Given the description of an element on the screen output the (x, y) to click on. 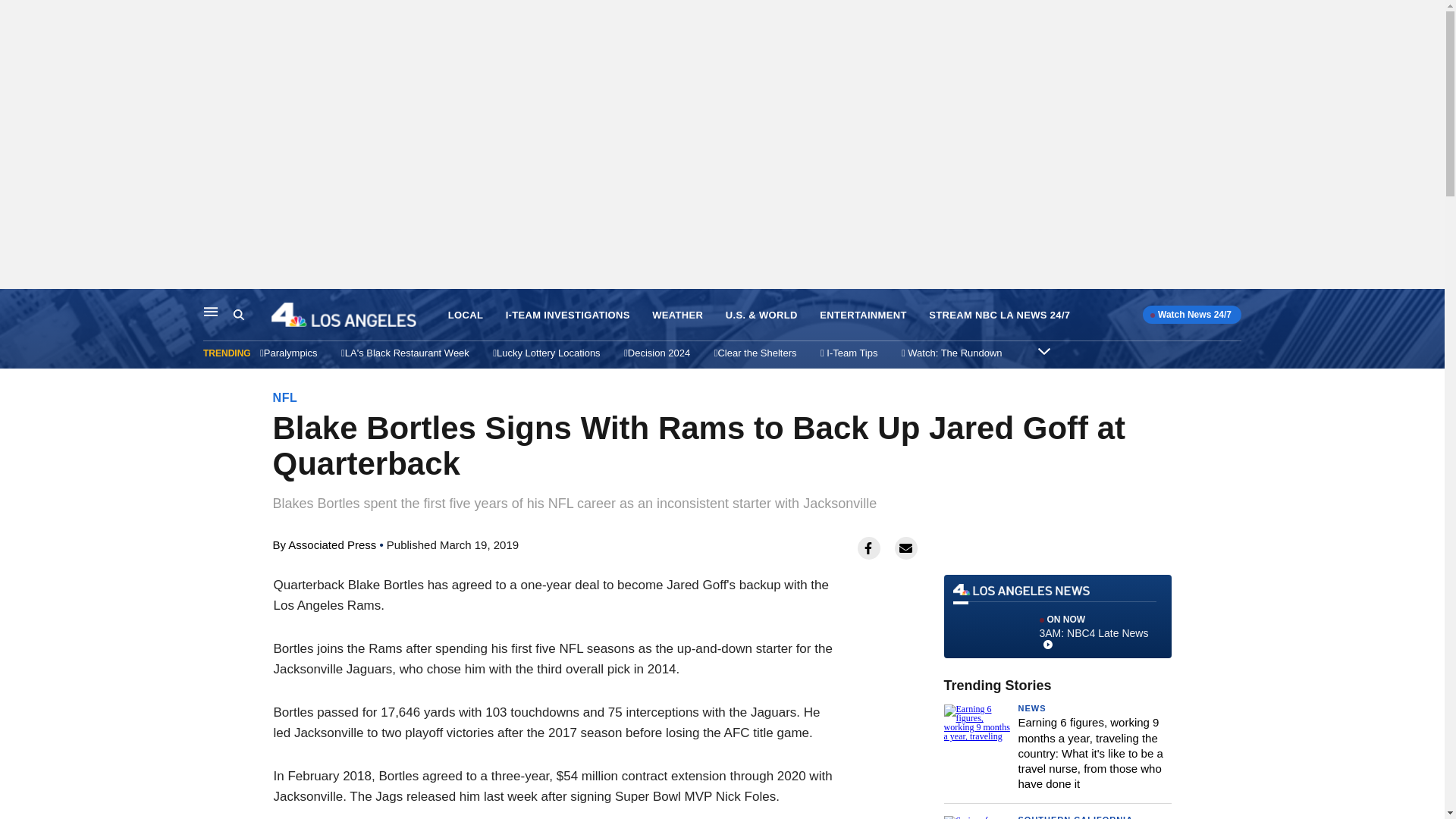
WEATHER (677, 315)
Expand (1043, 350)
Main Navigation (210, 311)
NEWS (1031, 707)
Search (252, 314)
Skip to content (16, 304)
ENTERTAINMENT (863, 315)
Search (1056, 616)
